Given the description of an element on the screen output the (x, y) to click on. 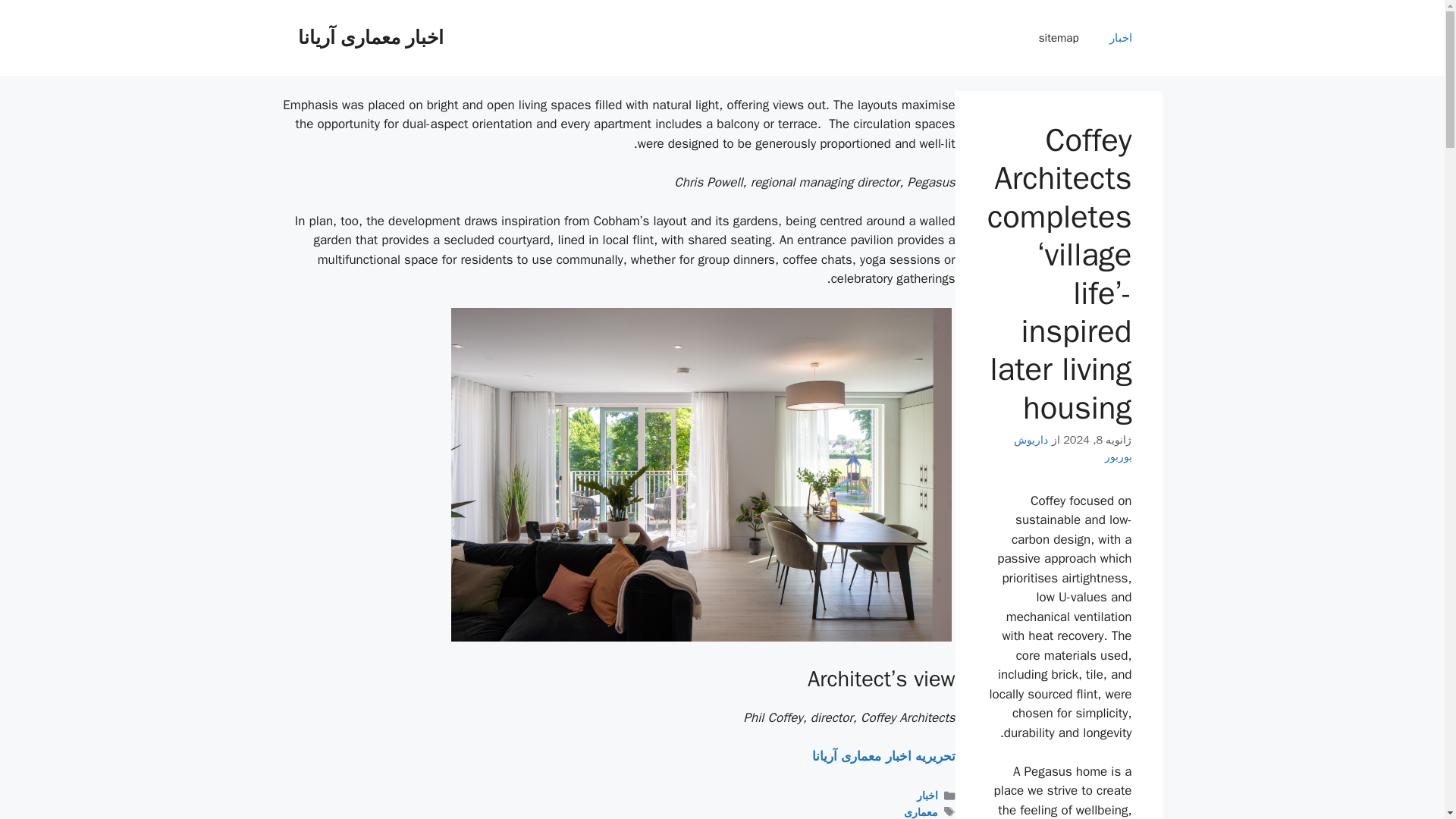
sitemap (1058, 37)
